Given the description of an element on the screen output the (x, y) to click on. 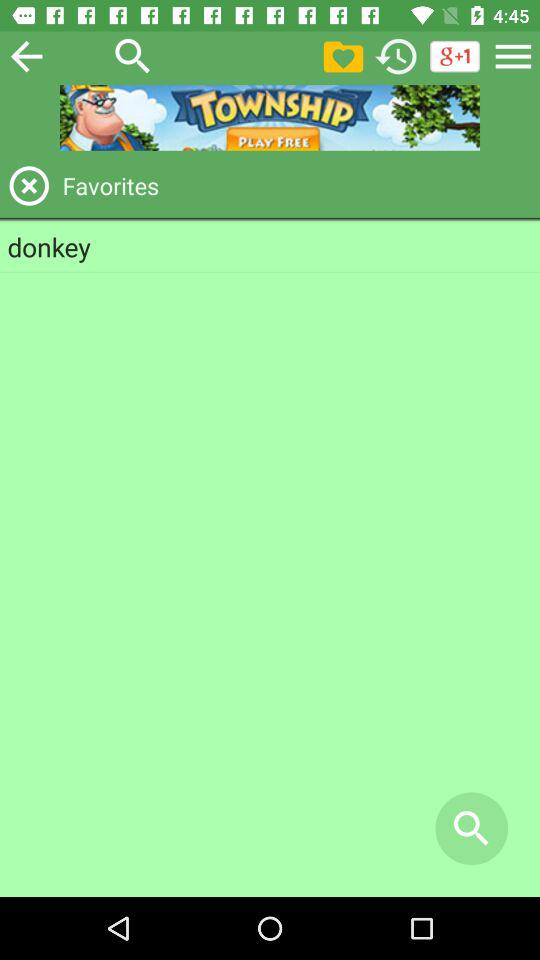
menu (513, 56)
